Given the description of an element on the screen output the (x, y) to click on. 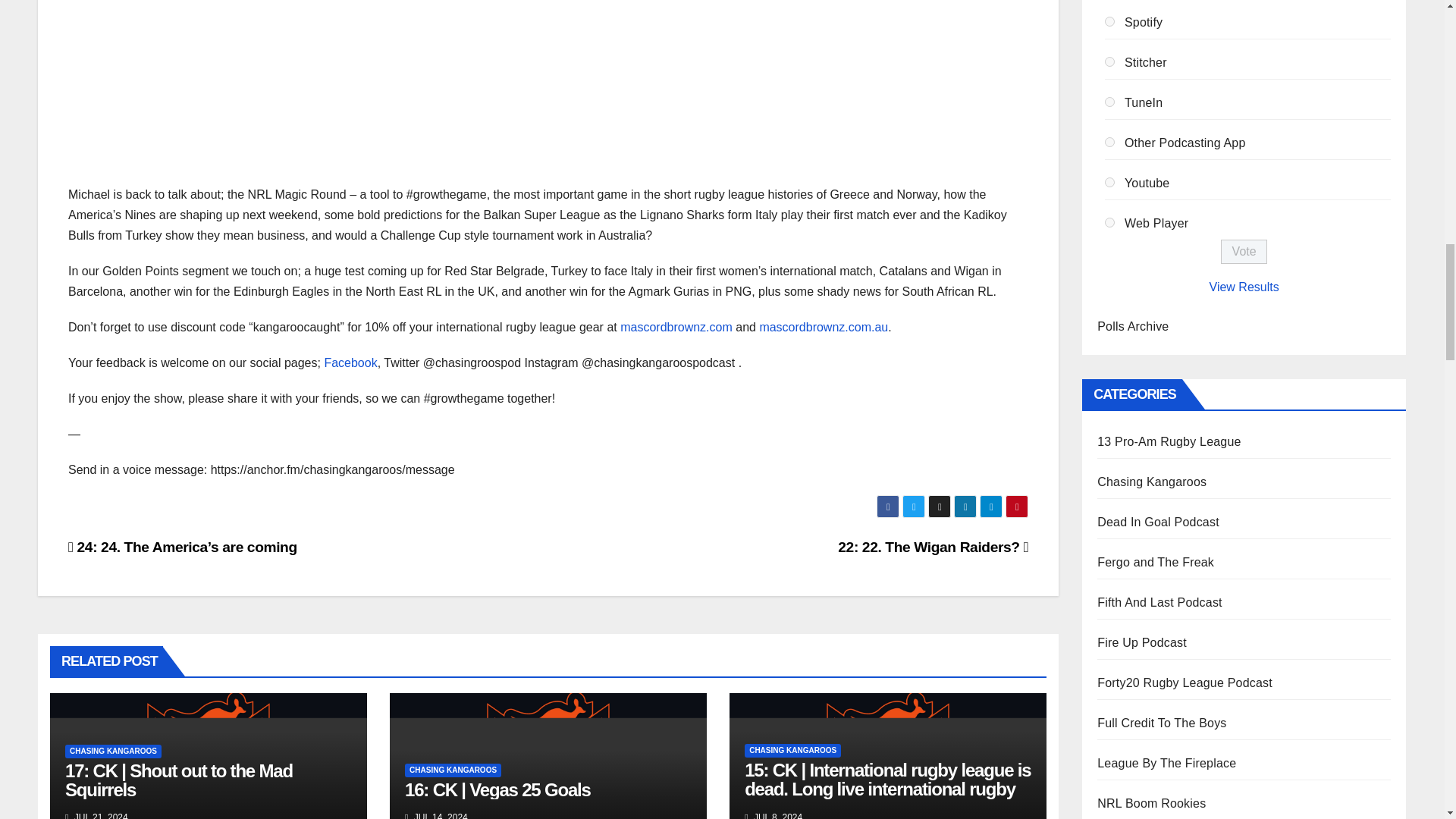
View Results Of This Poll (1244, 286)
22: 22. The Wigan Raiders? (932, 546)
9 (1110, 102)
CHASING KANGAROOS (113, 751)
10 (1110, 142)
mascordbrownz.com (676, 327)
mascordbrownz.com.au (823, 327)
CHASING KANGAROOS (452, 770)
8 (1110, 61)
7 (1110, 21)
